Given the description of an element on the screen output the (x, y) to click on. 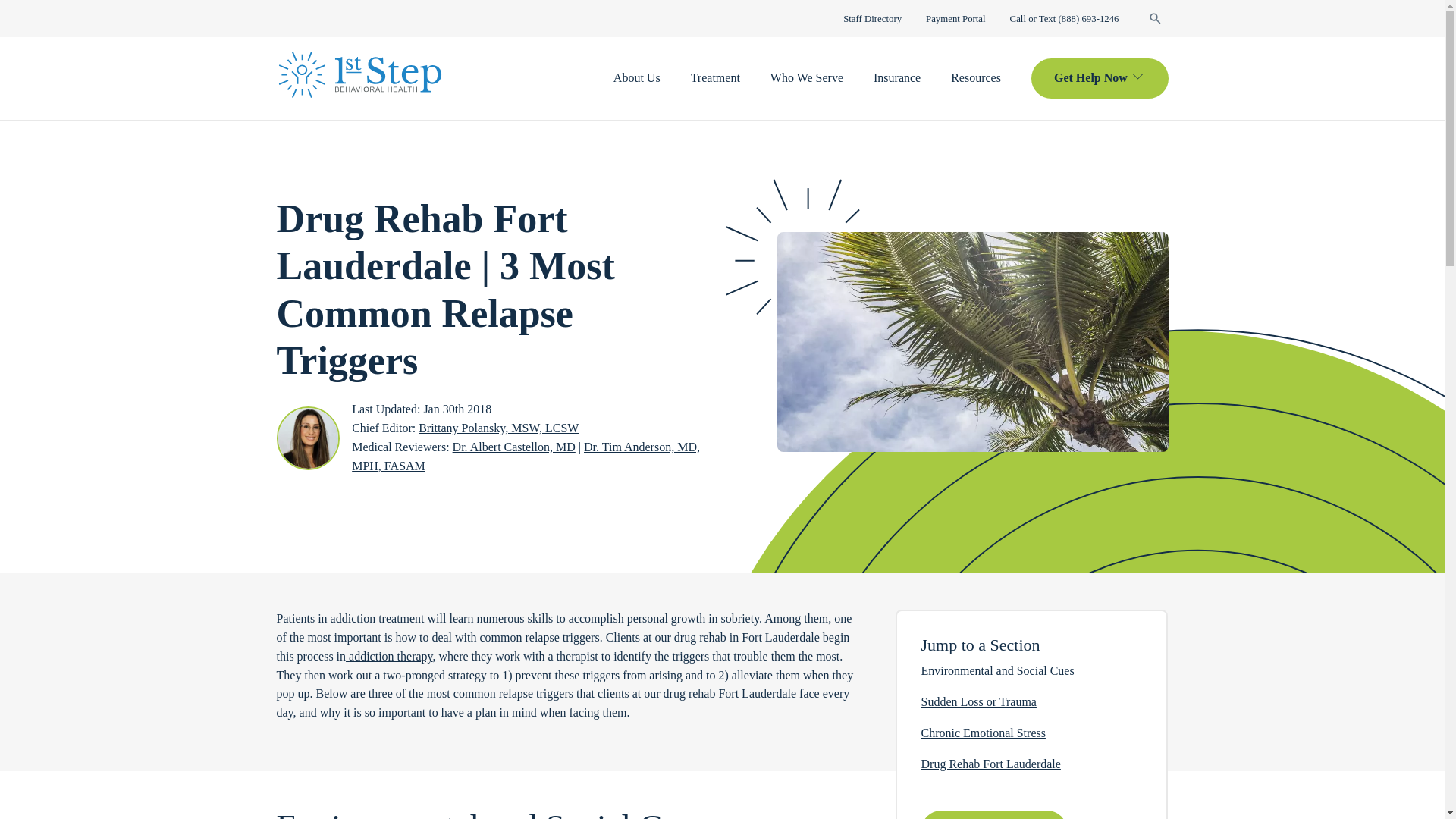
About Us (636, 77)
1st Step Behavioral Health (359, 74)
Payment Portal (955, 18)
Search (1154, 18)
Treatment (714, 77)
Staff Directory (872, 18)
